Given the description of an element on the screen output the (x, y) to click on. 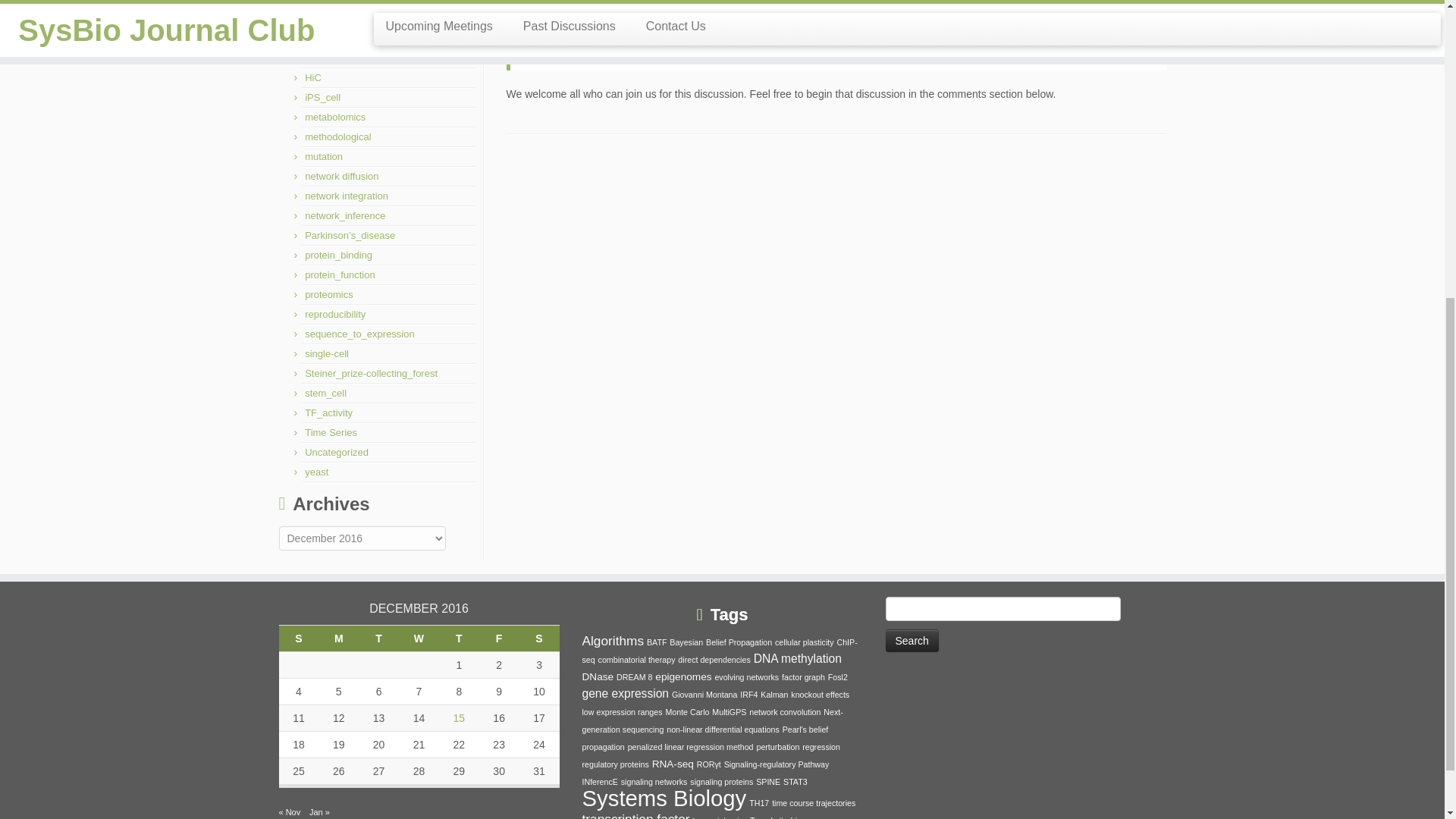
Search (912, 640)
GWAS (319, 57)
Tuesday (378, 637)
Wednesday (418, 637)
Sunday (298, 637)
Saturday (539, 637)
Genetic interaction (345, 18)
Thursday (459, 637)
metabolomics (334, 116)
HiC (312, 77)
